Given the description of an element on the screen output the (x, y) to click on. 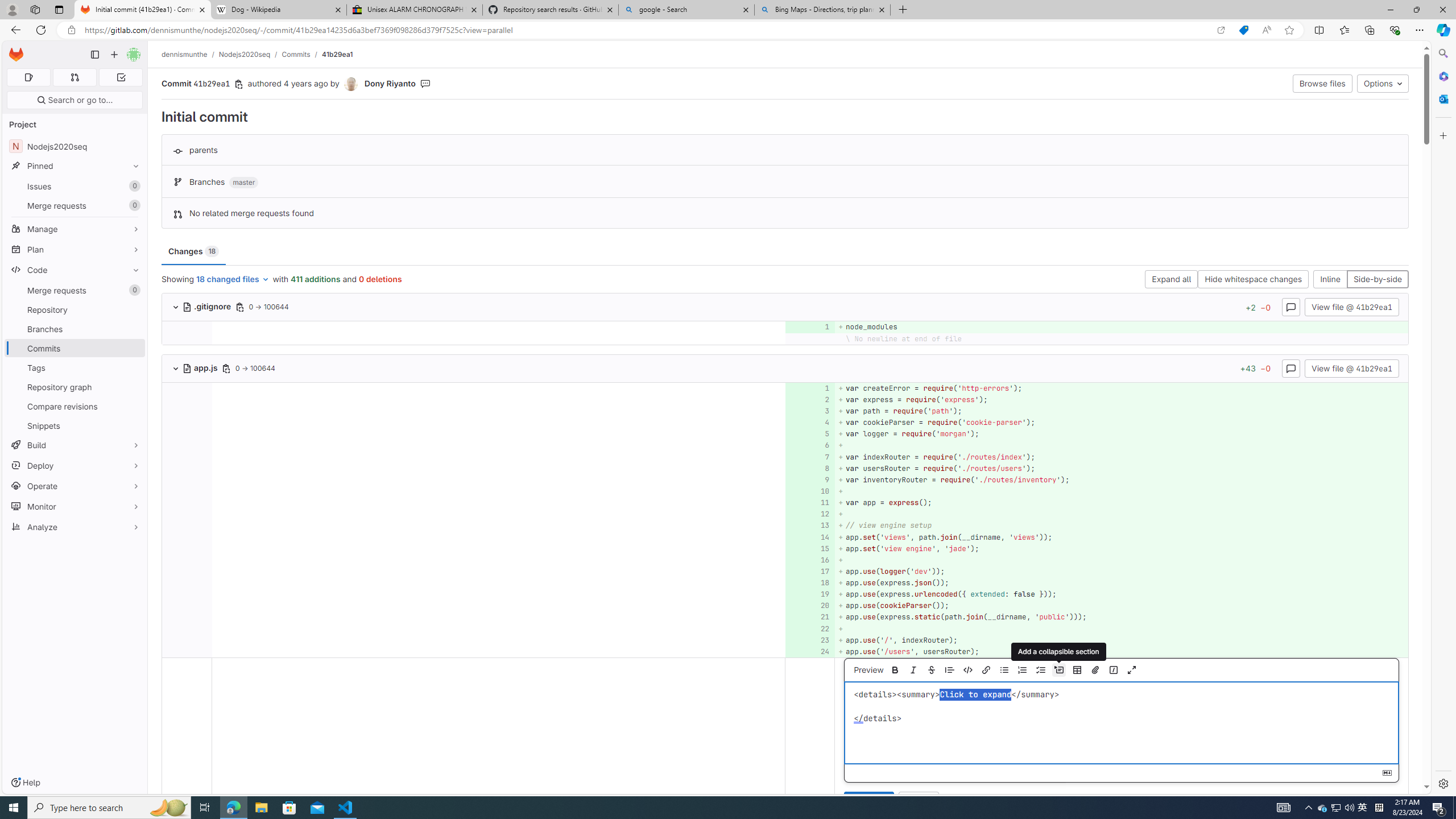
Merge requests 0 (74, 76)
+ var path = require('path');  (1120, 410)
+ var createError = require('http-errors');  (1120, 387)
Add a link (Ctrl+K) (985, 670)
Attach a file or image (1094, 670)
Class: s16 gl-icon gl-button-icon  (1387, 773)
17 (808, 571)
Add a comment to this line 16 (809, 559)
Commits (295, 53)
Pin Repository (132, 309)
12 (808, 514)
Add a comment to this line 15 (809, 548)
